Given the description of an element on the screen output the (x, y) to click on. 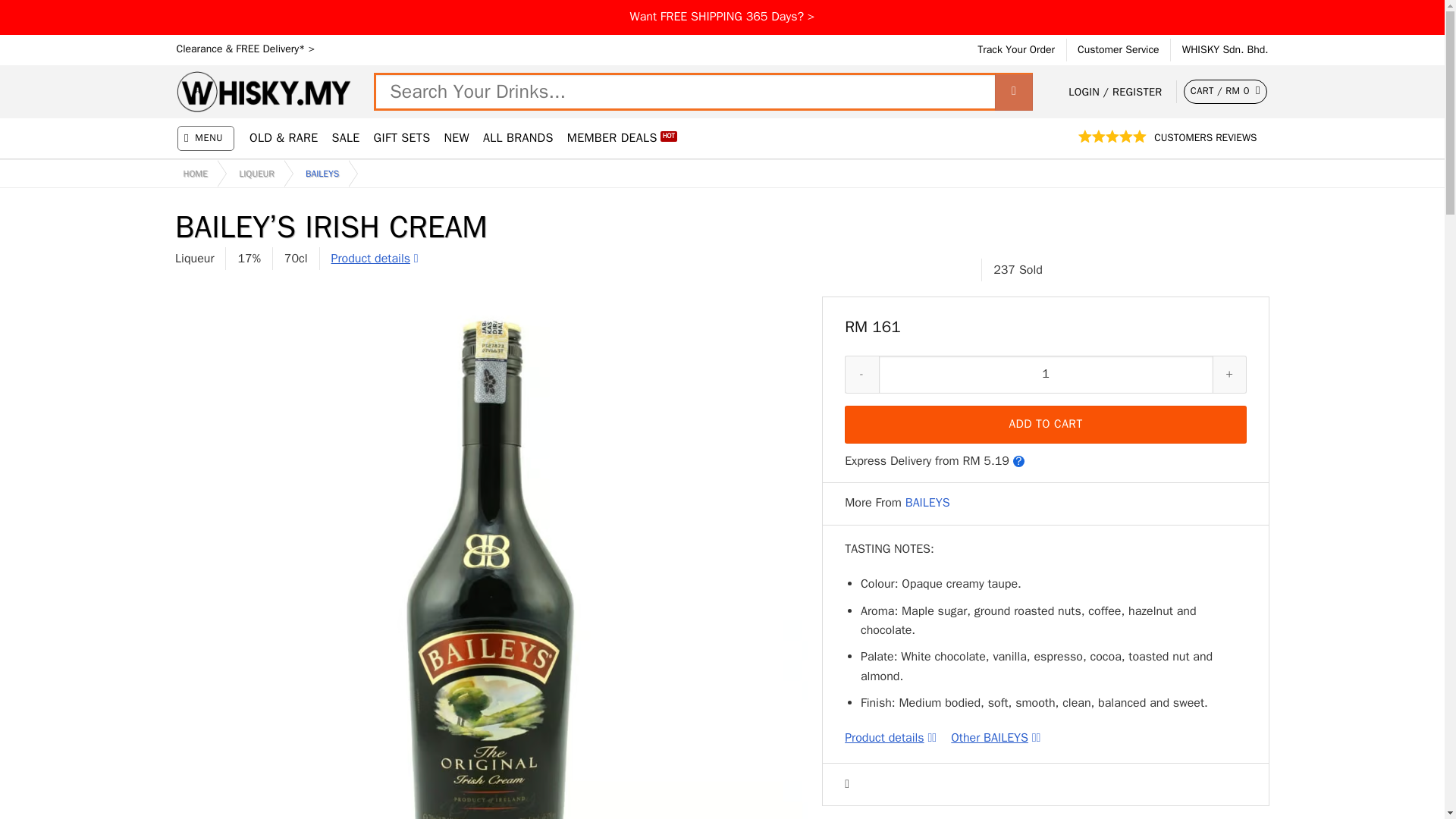
WHISKY Sdn. Bhd. (1225, 50)
GIFT SETS (402, 137)
ALL BRANDS (518, 137)
Customer Service (1117, 50)
MEMBER DEALS (622, 137)
Checkout (1224, 91)
1 (1045, 374)
MENU (205, 138)
Track Your Order (1015, 50)
Search (1013, 91)
